Given the description of an element on the screen output the (x, y) to click on. 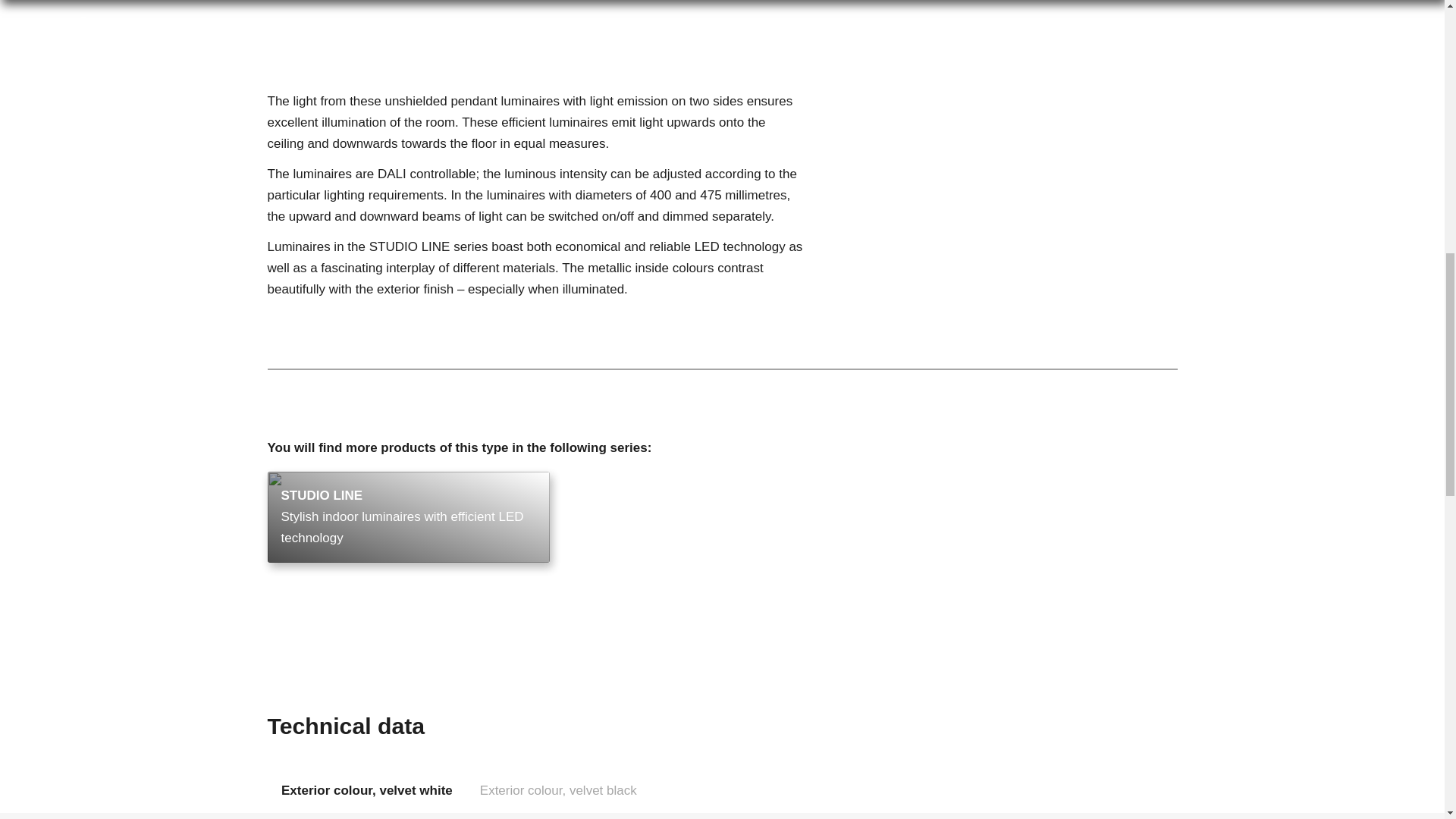
Exterior colour, velvet black (557, 789)
Exterior colour, velvet white (365, 789)
